Given the description of an element on the screen output the (x, y) to click on. 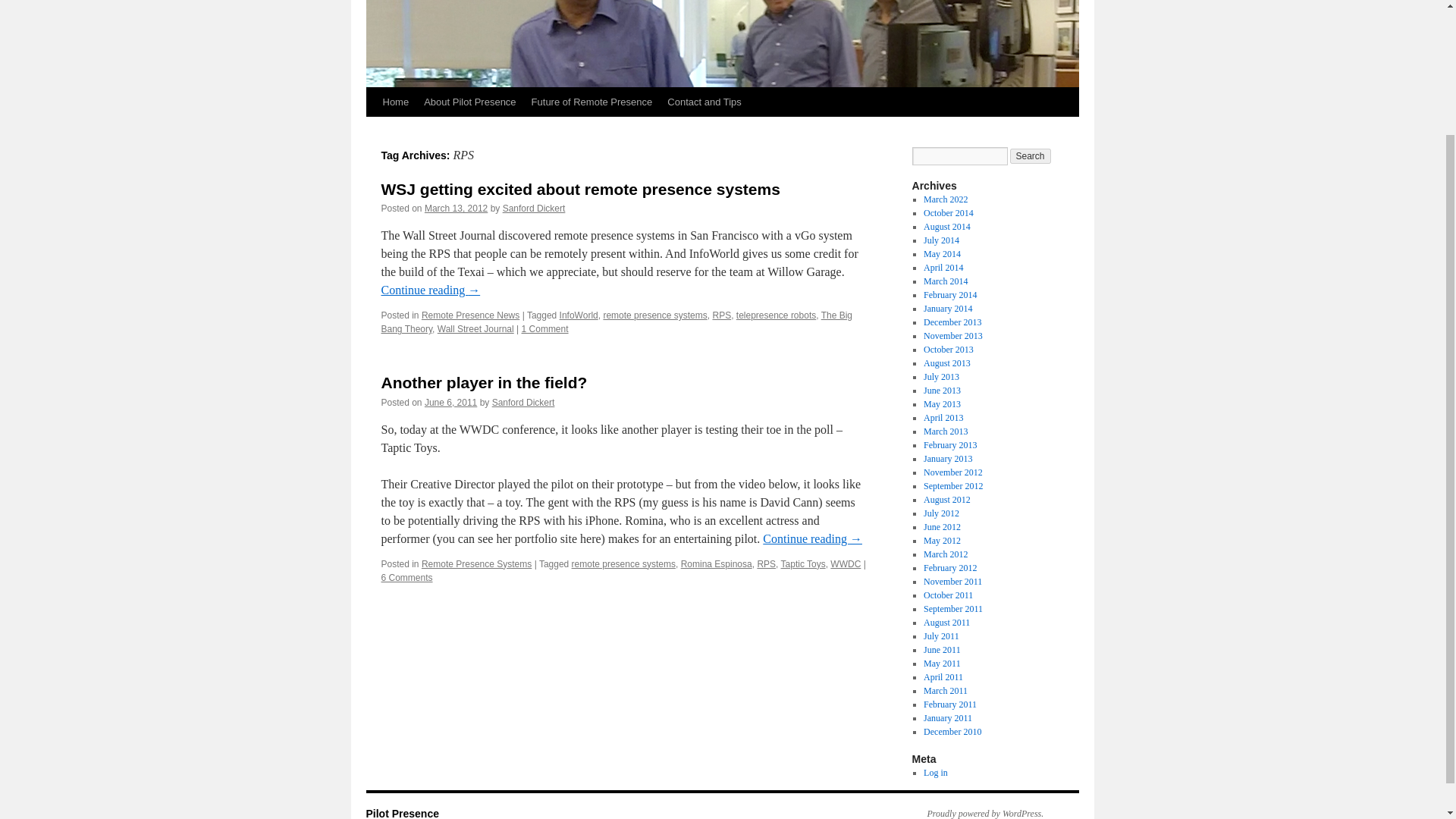
Home (395, 102)
March 13, 2012 (456, 208)
Why does this blog exist? (469, 102)
Romina Espinosa (716, 563)
WSJ getting excited about remote presence systems (579, 189)
October 2014 (948, 213)
8:39 pm (451, 402)
Remote Presence News (470, 315)
InfoWorld (578, 315)
Taptic Toys (802, 563)
